Given the description of an element on the screen output the (x, y) to click on. 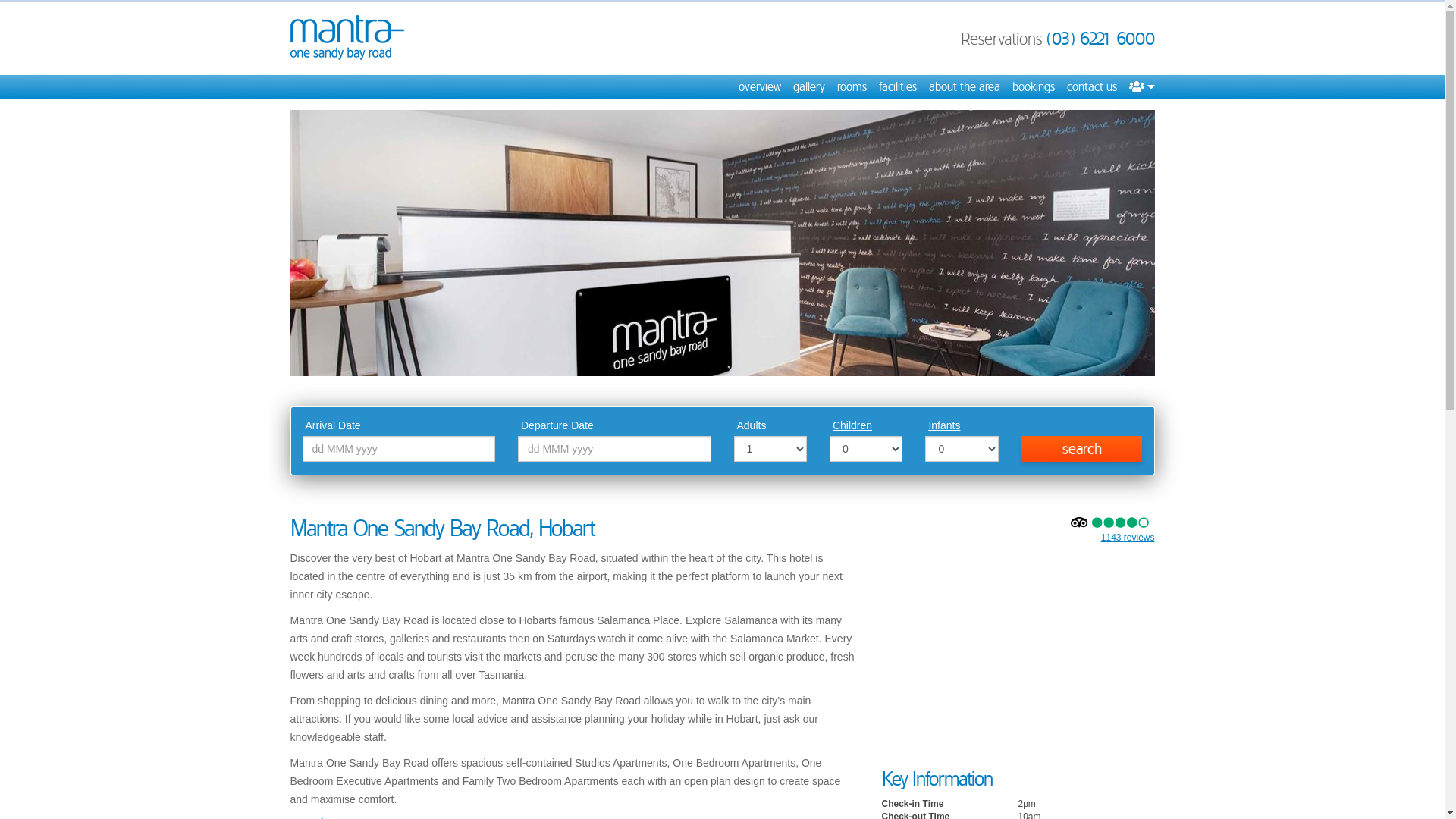
bookings Element type: text (1032, 87)
contact us Element type: text (1091, 87)
Mantra One Sandy Bay Road Element type: hover (346, 37)
about the area Element type: text (963, 87)
facilities Element type: text (897, 87)
gallery Element type: text (809, 87)
Lobby-Mantra On Sandy Bay Road Element type: hover (721, 242)
(03) 6221 6000 Element type: text (1100, 38)
rooms Element type: text (851, 87)
search Element type: text (1081, 448)
1143 reviews Element type: text (1127, 537)
overview Element type: text (759, 87)
